Given the description of an element on the screen output the (x, y) to click on. 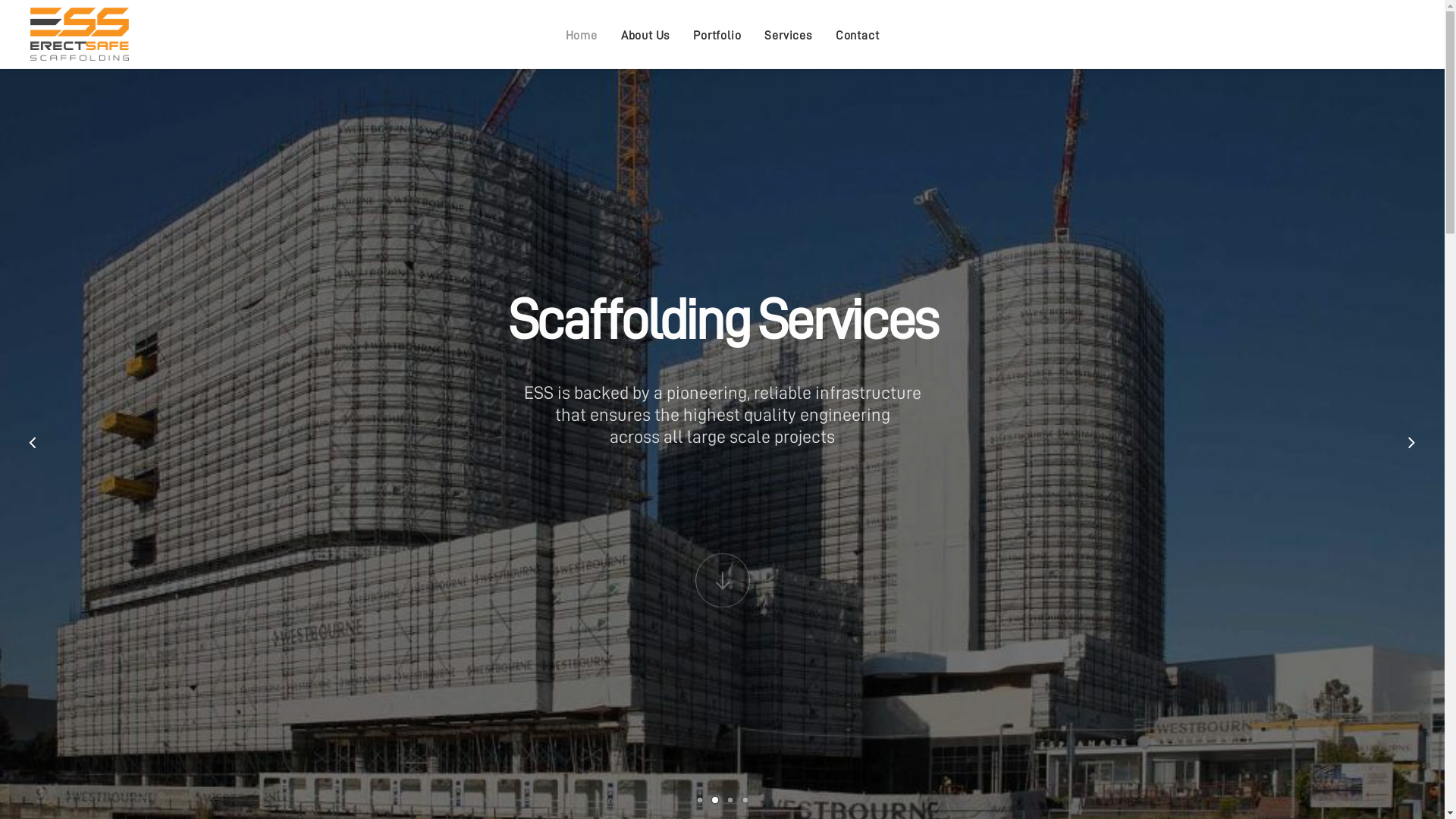
Contact Element type: text (857, 34)
Home Element type: text (581, 34)
Services Element type: text (787, 34)
About Us Element type: text (645, 34)
Portfolio Element type: text (716, 34)
